Given the description of an element on the screen output the (x, y) to click on. 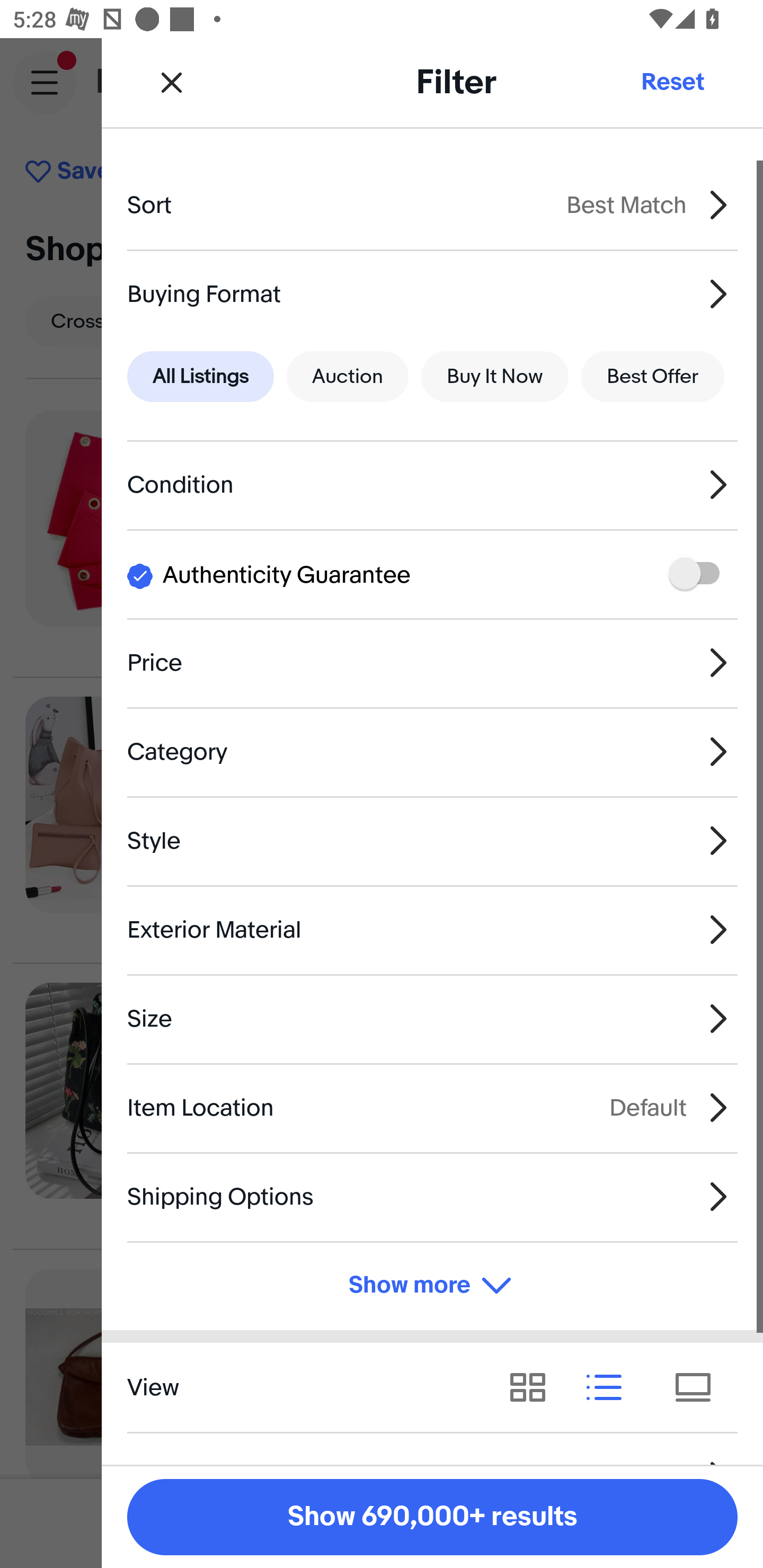
Close Filter (171, 81)
Reset (672, 81)
Buying Format (432, 293)
All Listings (200, 376)
Auction (347, 376)
Buy It Now (494, 376)
Best Offer (652, 376)
Condition (432, 484)
I  Authenticity Guarantee (432, 573)
Price (432, 662)
Category (432, 751)
Style (432, 840)
Exterior Material (432, 929)
Size (432, 1018)
Item Location Default (432, 1107)
Shipping Options (432, 1196)
Show more (432, 1285)
View results as grid (533, 1386)
View results as list (610, 1386)
View results as tiles (699, 1386)
Show 690,000+ results (432, 1516)
